Given the description of an element on the screen output the (x, y) to click on. 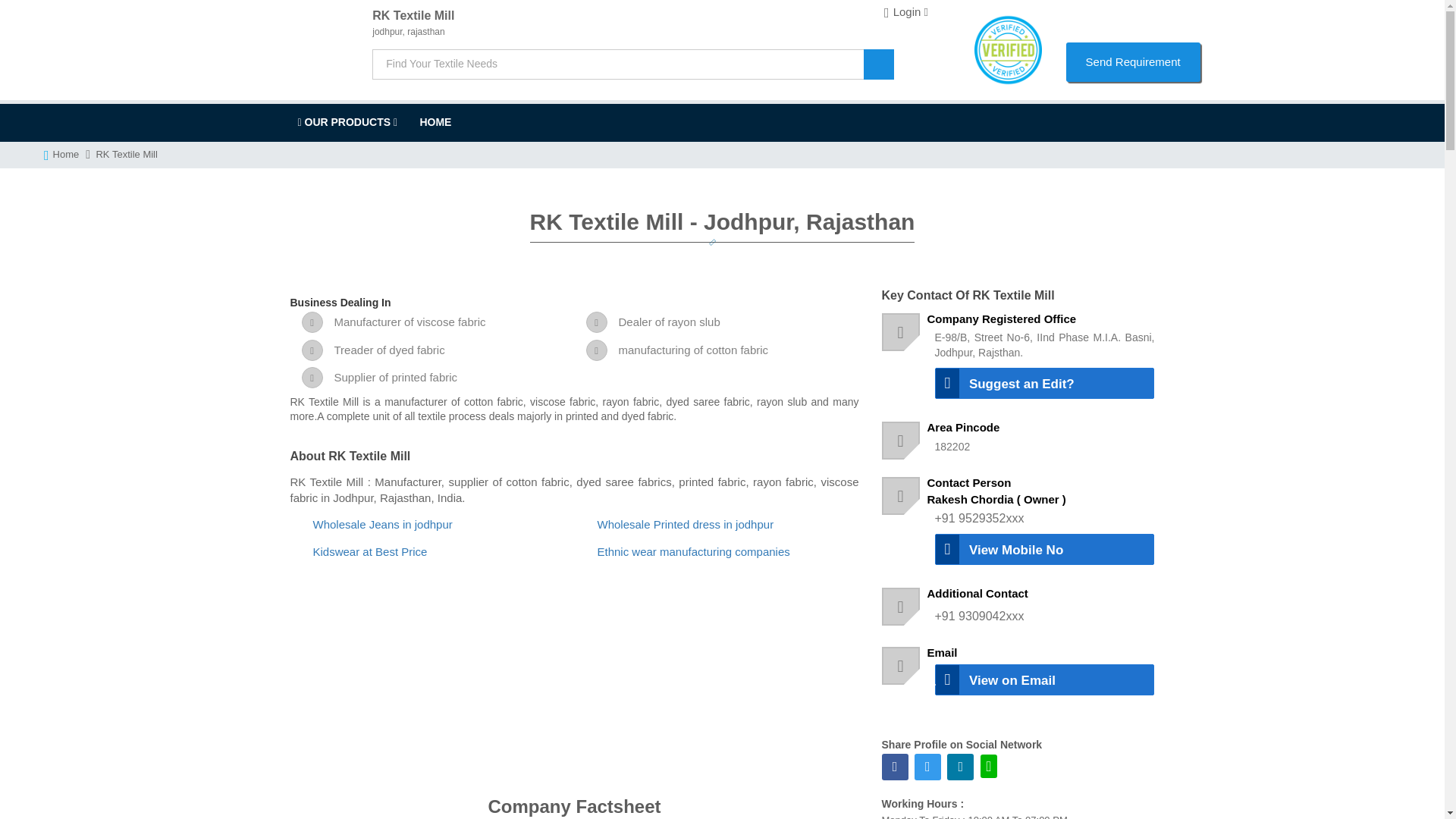
Home (68, 155)
View mobile to RK Textile Mill (1044, 549)
RK Textile Mill (435, 122)
RK Textile Mill (126, 155)
Kidswear at Best Price (369, 551)
Ethnic wear manufacturing companies (693, 551)
RK Textile Mill jodhpur, rajasthan (662, 15)
Send Requirement (1132, 61)
Login (905, 11)
HOME (435, 122)
